Given the description of an element on the screen output the (x, y) to click on. 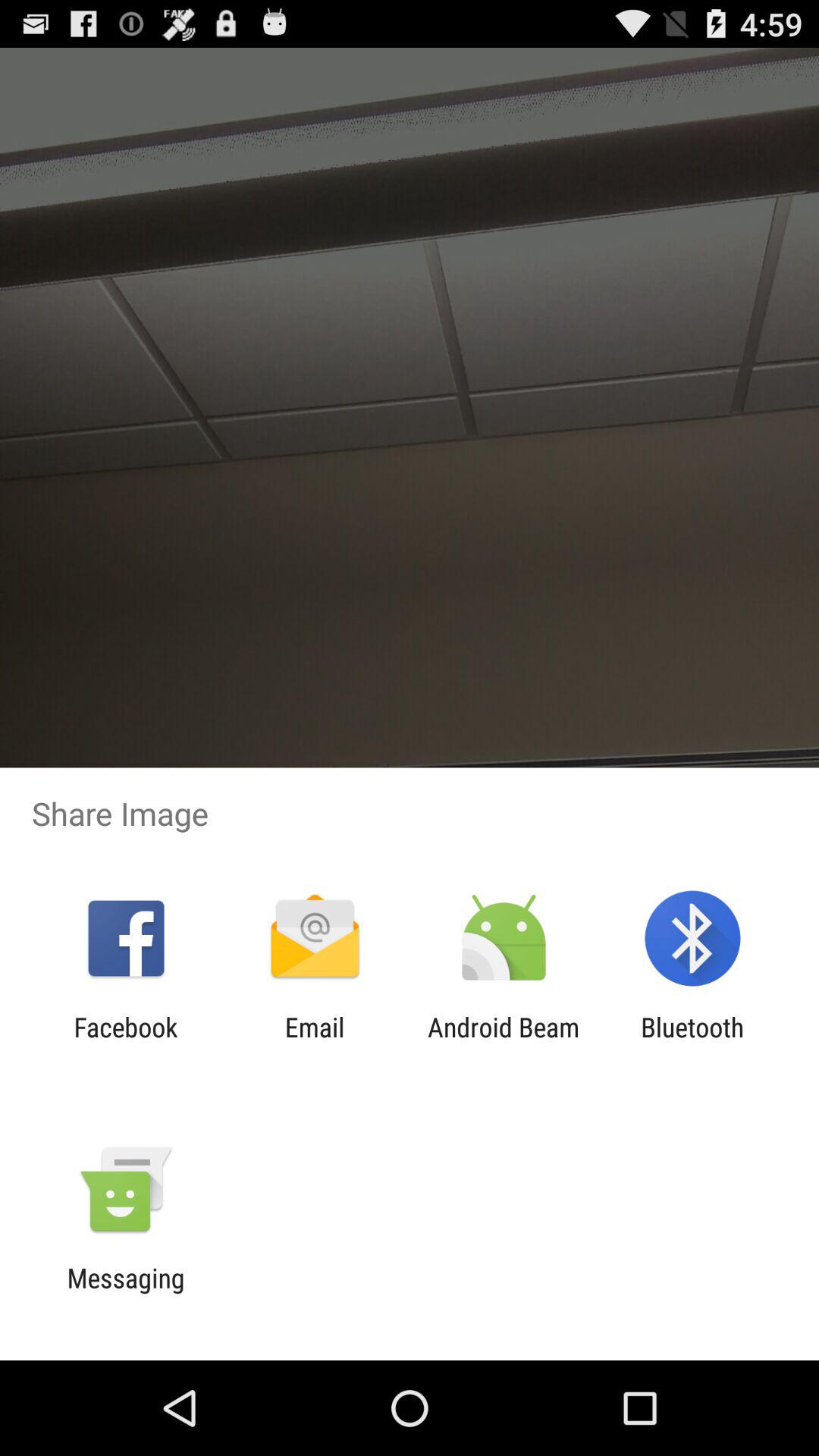
choose app to the left of the bluetooth app (503, 1042)
